Given the description of an element on the screen output the (x, y) to click on. 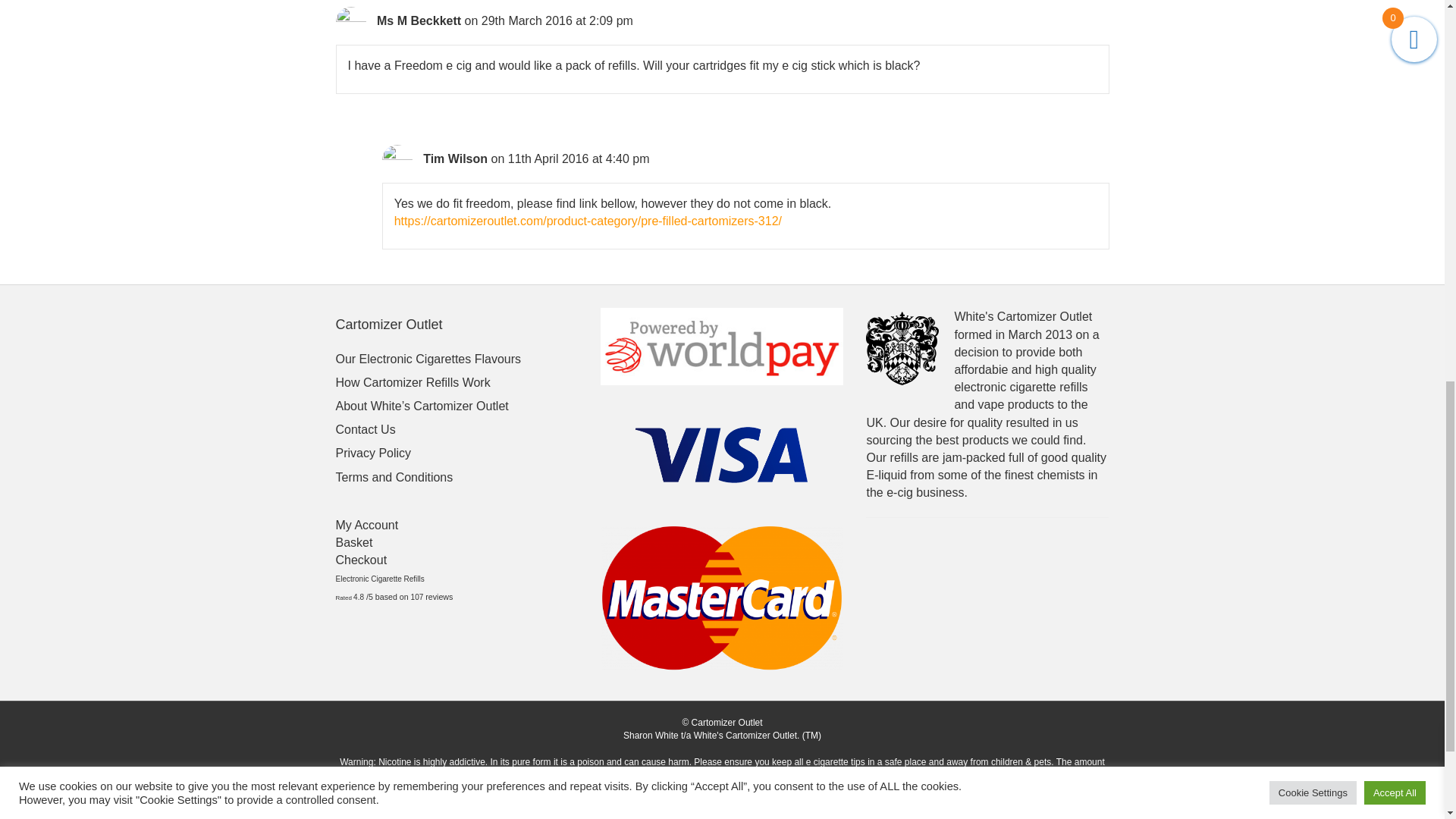
Contact Us (364, 429)
Basket (353, 542)
My Account (365, 524)
Terms and Conditions (393, 477)
Privacy Policy (372, 452)
Our Electronic Cigarettes Flavours (427, 358)
How Cartomizer Refills Work (411, 382)
